Given the description of an element on the screen output the (x, y) to click on. 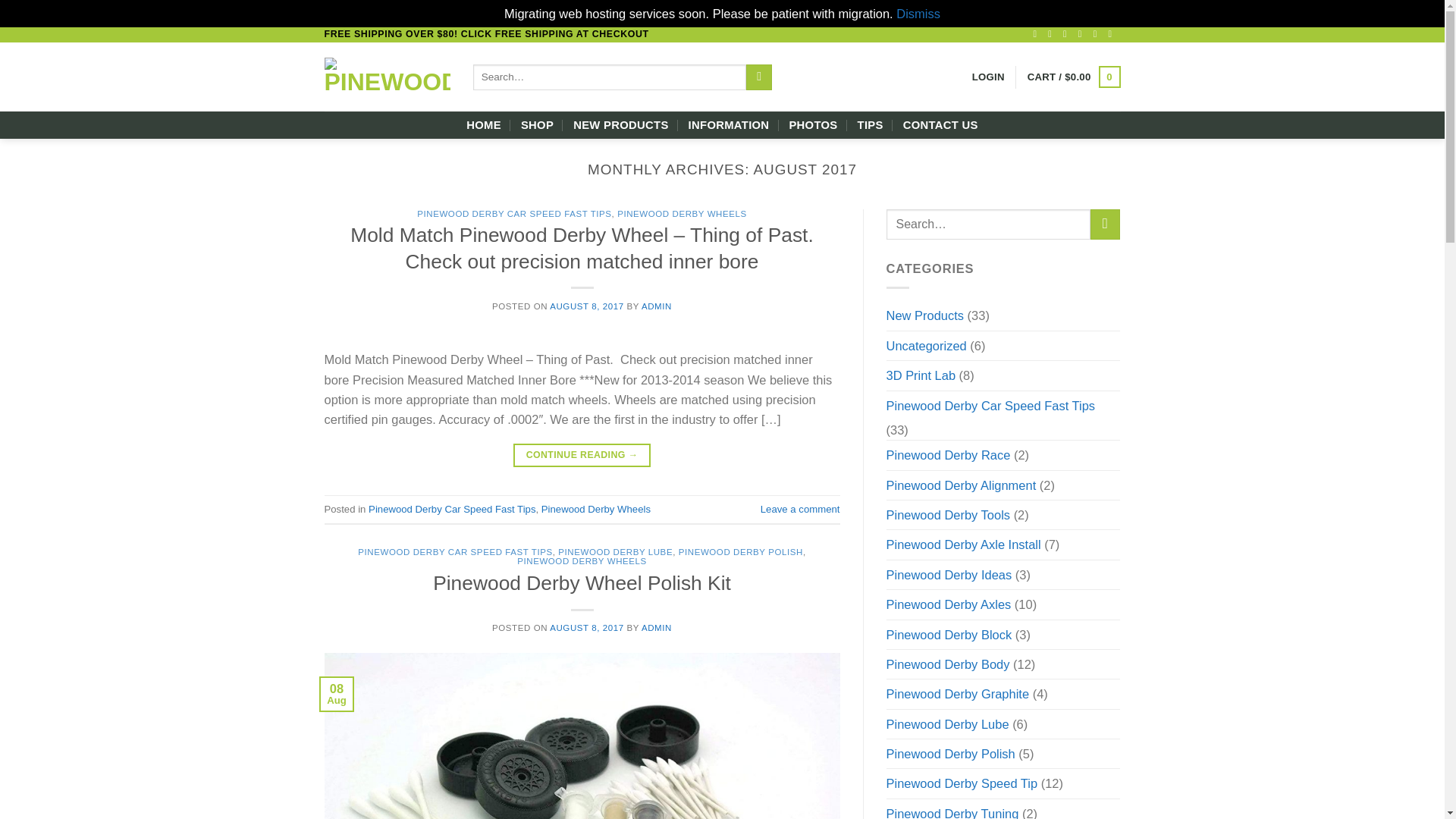
Pinewood Derby Car Speed Fast Tips (451, 509)
PINEWOOD DERBY WHEELS (681, 213)
PHOTOS (813, 124)
TIPS (870, 124)
NEW PRODUCTS (620, 124)
CONTACT US (940, 124)
Dismiss (918, 13)
PINEWOOD DERBY CAR SPEED FAST TIPS (513, 213)
Pinewood Derby Wheels (595, 509)
ADMIN (656, 306)
